Given the description of an element on the screen output the (x, y) to click on. 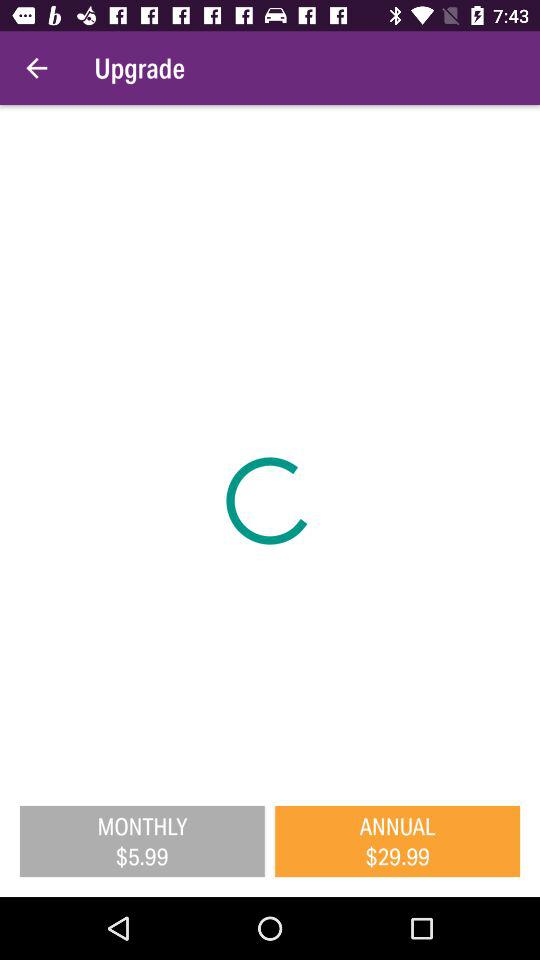
press the monthly
$5.99 icon (141, 841)
